Given the description of an element on the screen output the (x, y) to click on. 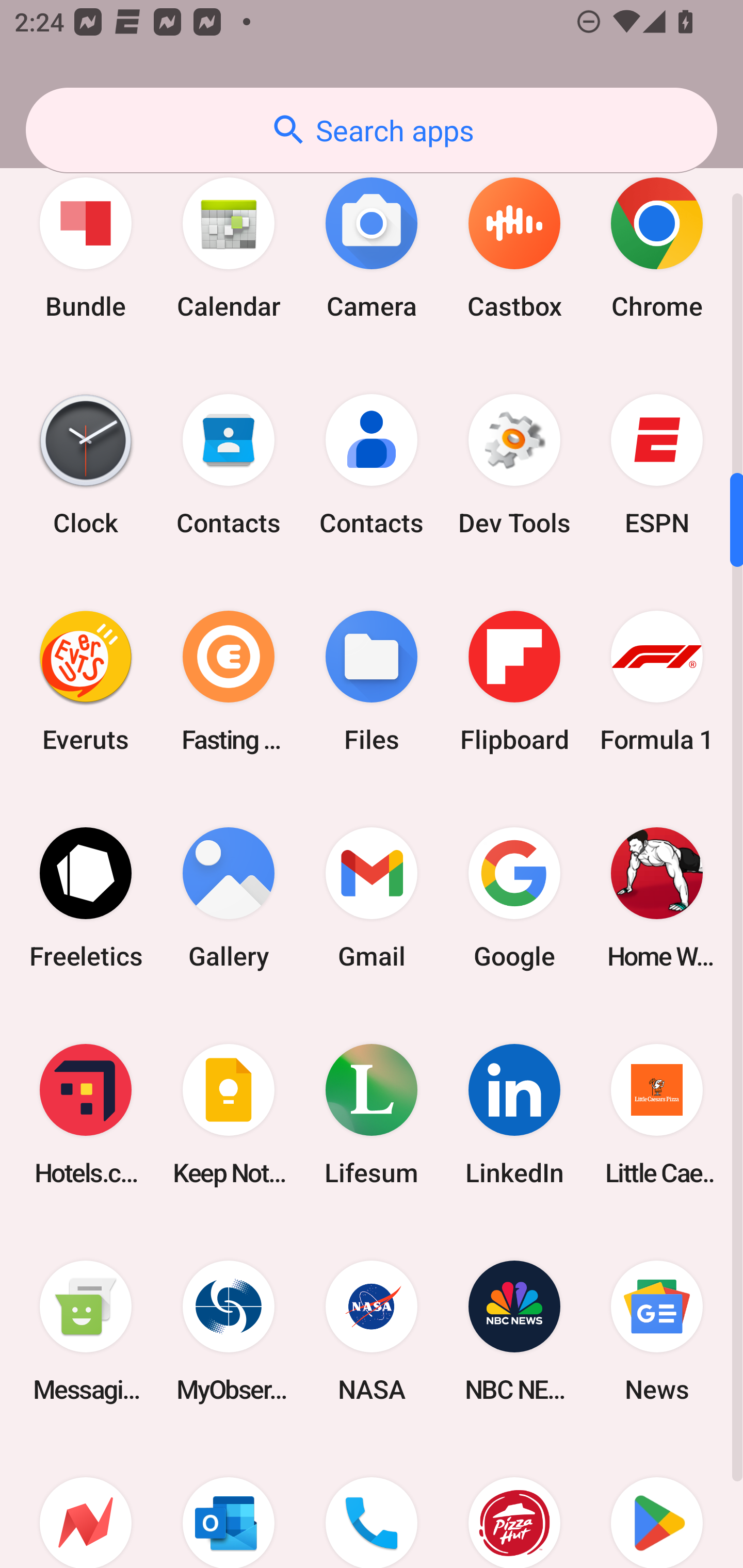
  Search apps (371, 130)
Bundle (85, 247)
Calendar (228, 247)
Camera (371, 247)
Castbox (514, 247)
Chrome (656, 247)
Clock (85, 463)
Contacts (228, 463)
Contacts (371, 463)
Dev Tools (514, 463)
ESPN (656, 463)
Everuts (85, 681)
Fasting Coach (228, 681)
Files (371, 681)
Flipboard (514, 681)
Formula 1 (656, 681)
Freeletics (85, 898)
Gallery (228, 898)
Gmail (371, 898)
Google (514, 898)
Home Workout (656, 898)
Hotels.com (85, 1114)
Keep Notes (228, 1114)
Lifesum (371, 1114)
LinkedIn (514, 1114)
Little Caesars Pizza (656, 1114)
Messaging (85, 1331)
MyObservatory (228, 1331)
NASA (371, 1331)
NBC NEWS (514, 1331)
News (656, 1331)
NewsBreak (85, 1503)
Outlook (228, 1503)
Phone (371, 1503)
Pizza Hut HK & Macau (514, 1503)
Play Store (656, 1503)
